Given the description of an element on the screen output the (x, y) to click on. 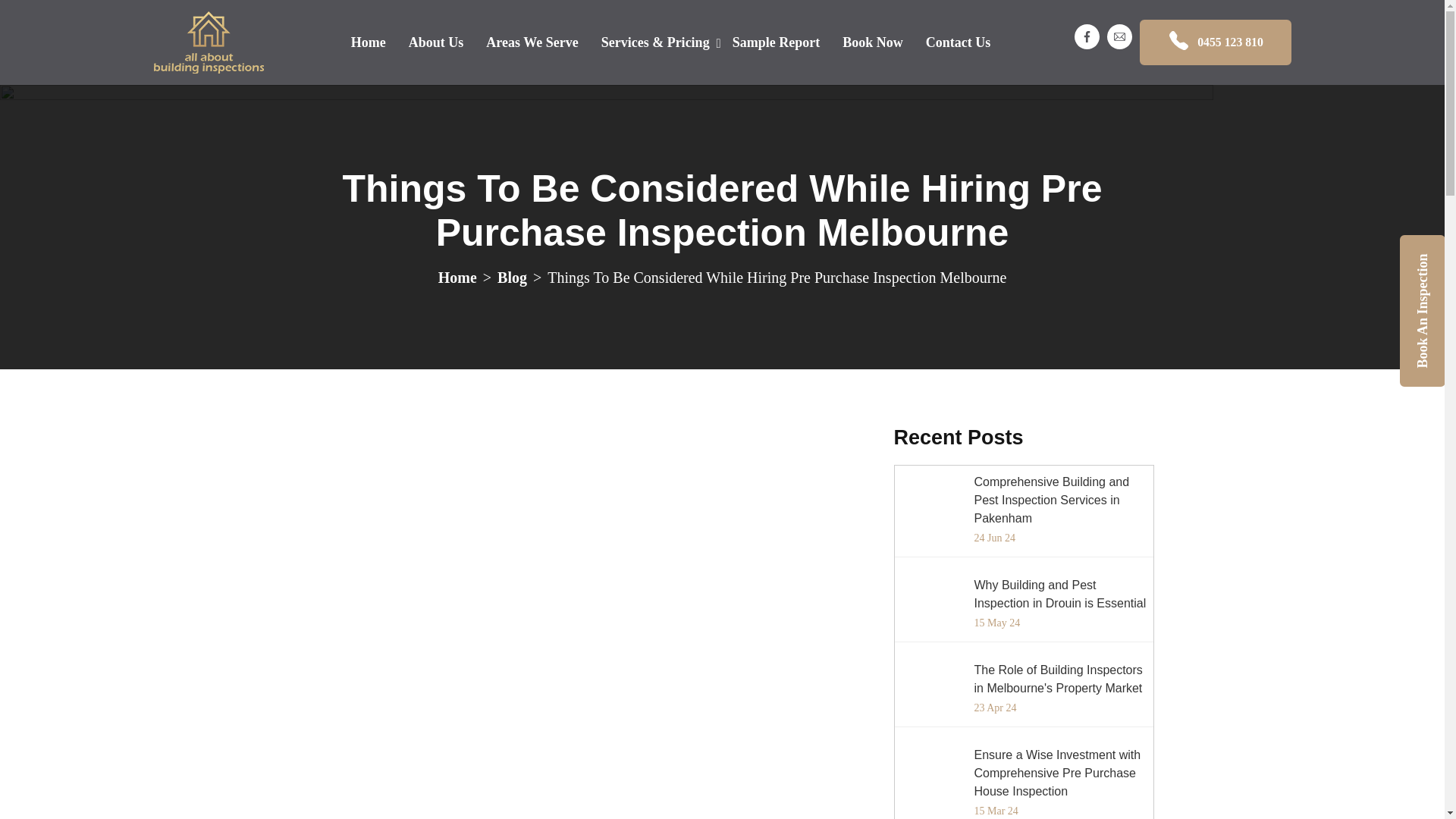
About Us (436, 42)
Areas We Serve (532, 42)
Home (457, 276)
main-logo (207, 42)
